Given the description of an element on the screen output the (x, y) to click on. 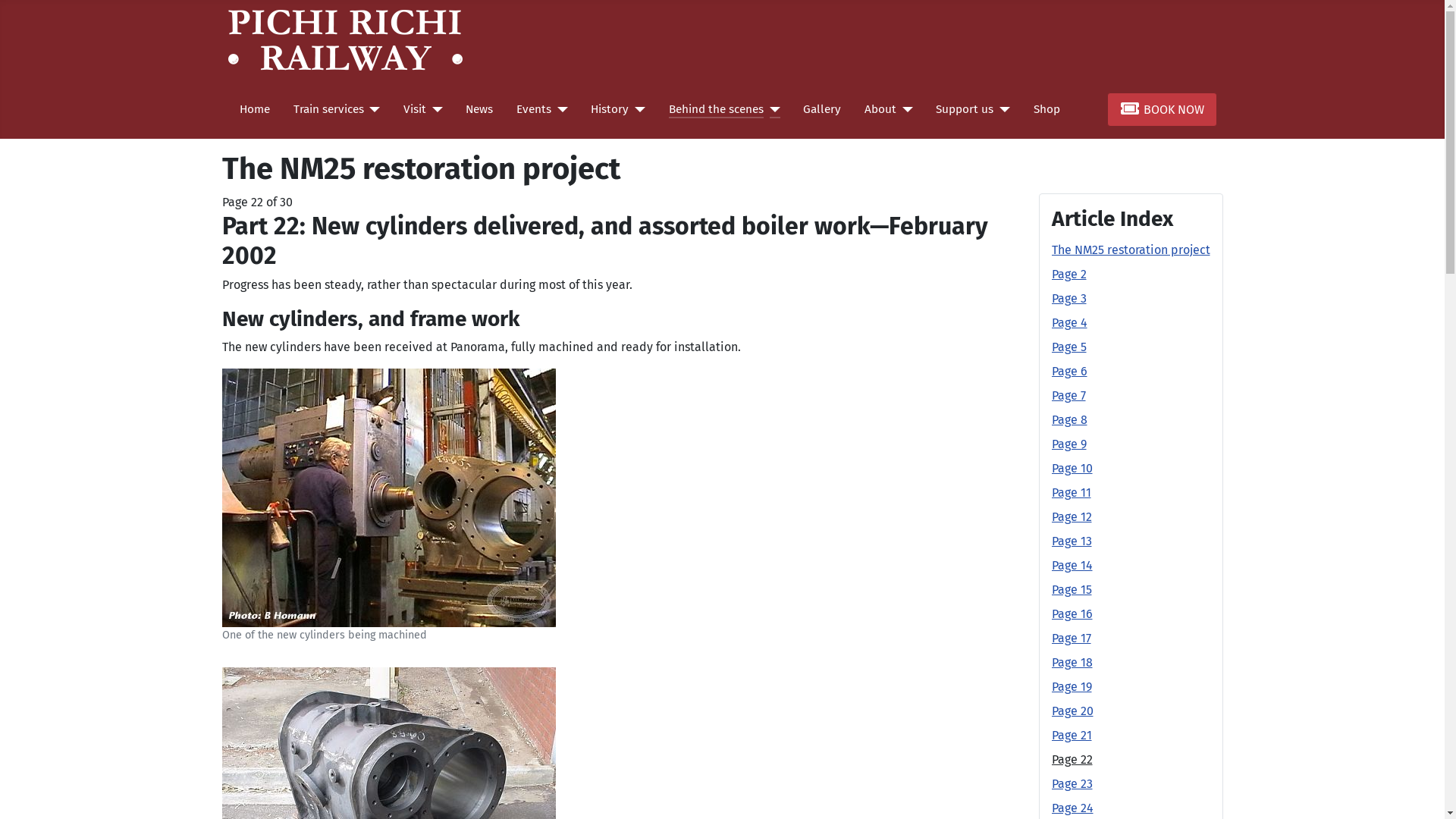
Page 12 Element type: text (1071, 516)
The NM25 restoration project Element type: text (1130, 249)
Page 8 Element type: text (1068, 419)
Page 21 Element type: text (1071, 735)
Train services Element type: text (328, 109)
Page 20 Element type: text (1071, 710)
Behind the scenes Element type: text (715, 109)
Page 14 Element type: text (1071, 565)
Page 18 Element type: text (1071, 662)
Page 24 Element type: text (1071, 807)
Page 15 Element type: text (1071, 589)
Support us Element type: text (964, 109)
Page 10 Element type: text (1071, 468)
Page 7 Element type: text (1068, 395)
Page 23 Element type: text (1071, 783)
Page 17 Element type: text (1070, 637)
Page 22 Element type: text (1071, 759)
Page 6 Element type: text (1068, 371)
News Element type: text (478, 109)
Page 3 Element type: text (1068, 298)
Page 9 Element type: text (1068, 443)
Shop Element type: text (1046, 109)
Gallery Element type: text (821, 109)
History Element type: text (609, 109)
Page 13 Element type: text (1071, 540)
BOOK NOW Element type: text (1162, 109)
Page 4 Element type: text (1068, 322)
About Element type: text (880, 109)
Page 11 Element type: text (1070, 492)
Page 2 Element type: text (1068, 273)
Page 16 Element type: text (1071, 613)
Home Element type: text (254, 109)
Visit Element type: text (414, 109)
Page 5 Element type: text (1068, 346)
Page 19 Element type: text (1071, 686)
Events Element type: text (533, 109)
